Given the description of an element on the screen output the (x, y) to click on. 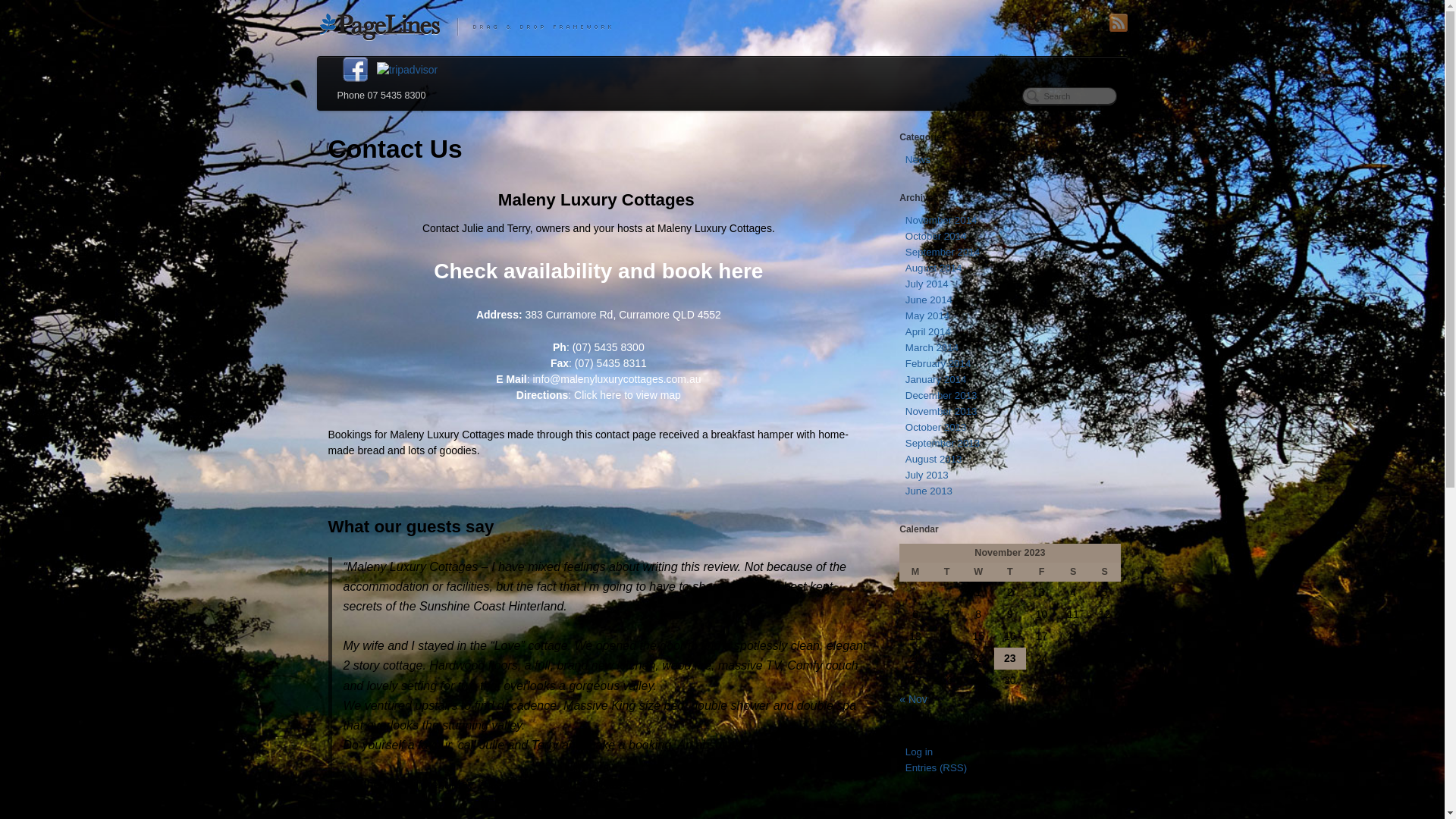
February 2014 Element type: text (937, 363)
November 2013 Element type: text (941, 411)
January 2014 Element type: text (935, 379)
Click here to view map Element type: text (627, 395)
March 2014 Element type: text (931, 347)
August 2013 Element type: text (933, 458)
November 2014 Element type: text (941, 219)
May 2014 Element type: text (927, 315)
December 2013 Element type: text (941, 395)
April 2014 Element type: text (927, 331)
June 2013 Element type: text (928, 490)
September 2014 Element type: text (942, 251)
Check availability and book here Element type: text (597, 270)
Phone 07 5435 8300 Element type: text (380, 95)
News Element type: text (917, 159)
October 2014 Element type: text (935, 235)
Entries (RSS) Element type: text (935, 767)
July 2014 Element type: text (926, 283)
September 2013 Element type: text (942, 442)
July 2013 Element type: text (926, 474)
Maleny Luxury Cottages Element type: hover (722, 25)
August 2014 Element type: text (933, 267)
Log in Element type: text (918, 751)
info@malenyluxurycottages.com.au Element type: text (616, 379)
October 2013 Element type: text (935, 427)
June 2014 Element type: text (928, 299)
383 Curramore Rd, Curramore QLD 4552 Element type: text (622, 314)
